Given the description of an element on the screen output the (x, y) to click on. 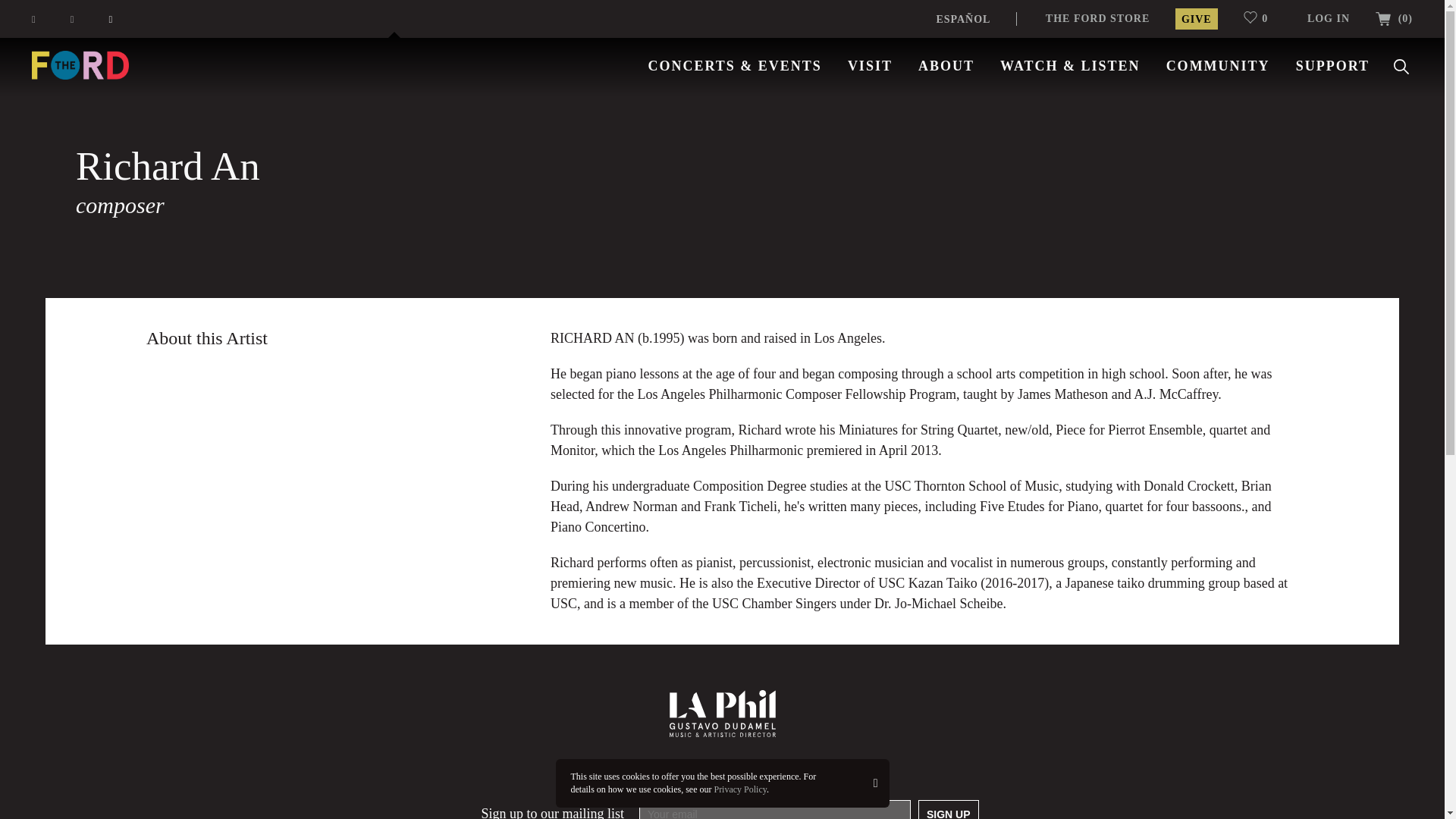
ABOUT (946, 65)
Sign Up (948, 809)
LOG IN (1328, 18)
THE FORD STORE (1097, 18)
0 (1262, 18)
GIVE (1195, 18)
Homepage (80, 64)
VISIT (869, 65)
